Given the description of an element on the screen output the (x, y) to click on. 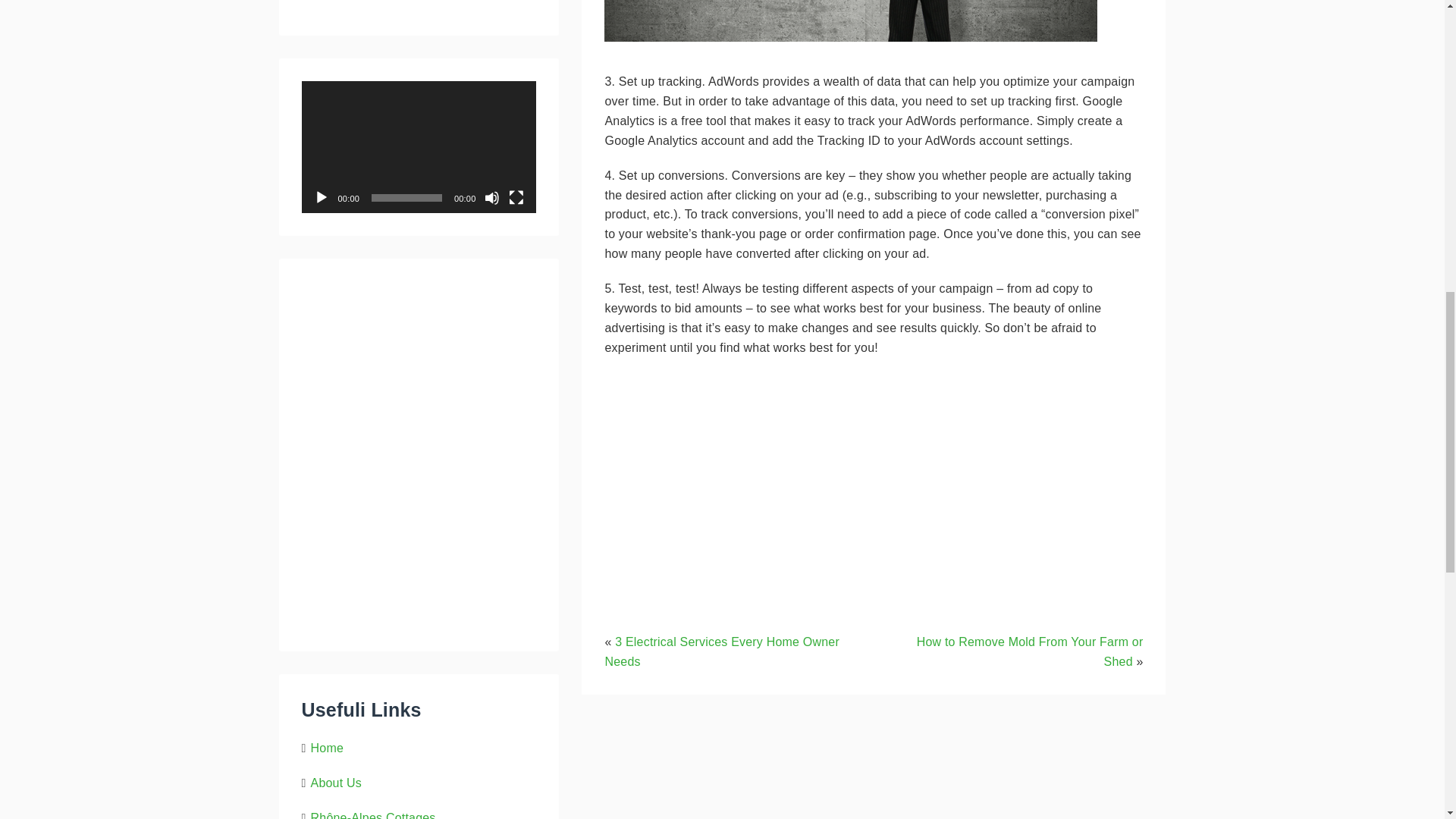
Home (327, 748)
Play (321, 197)
YouTube video player (816, 477)
3 Electrical Services Every Home Owner Needs (721, 651)
How to Remove Mold From Your Farm or Shed (1029, 651)
About Us (336, 782)
Fullscreen (516, 197)
Mute (491, 197)
